Given the description of an element on the screen output the (x, y) to click on. 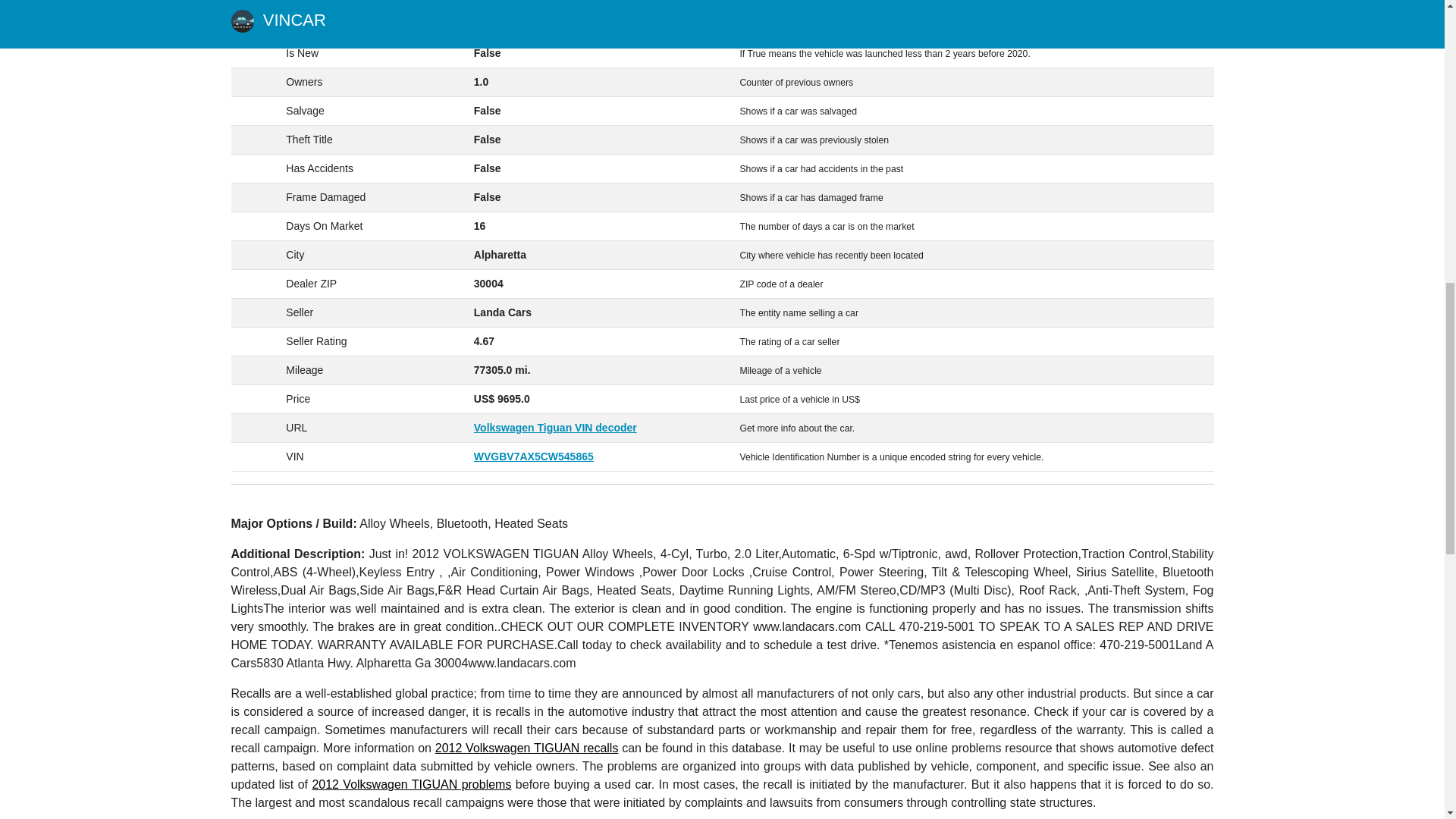
WVGBV7AX5CW545865 (534, 456)
2012 Volkswagen TIGUAN recalls (526, 748)
Get Report for Volkswagen Tiguan (555, 427)
2012 Volkswagen TIGUAN problems (411, 784)
Volkswagen Tiguan VIN decoder (555, 427)
Get Report for WVGBV7AX5CW545865 (534, 456)
2012 Volkswagen TIGUAN recalls (526, 748)
2012 Volkswagen TIGUAN problems (411, 784)
